Given the description of an element on the screen output the (x, y) to click on. 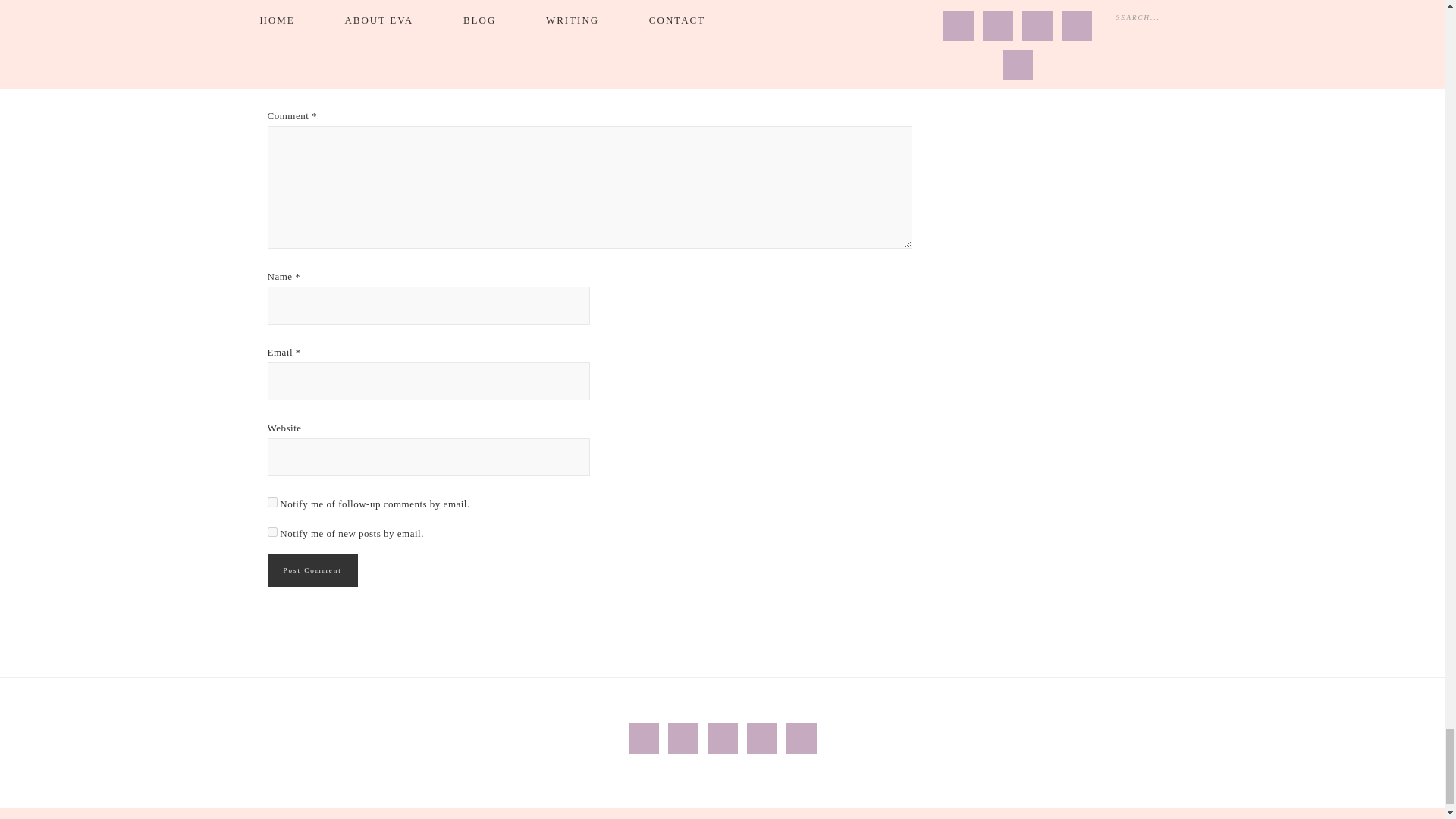
Post Comment (311, 570)
subscribe (271, 532)
subscribe (271, 501)
